Given the description of an element on the screen output the (x, y) to click on. 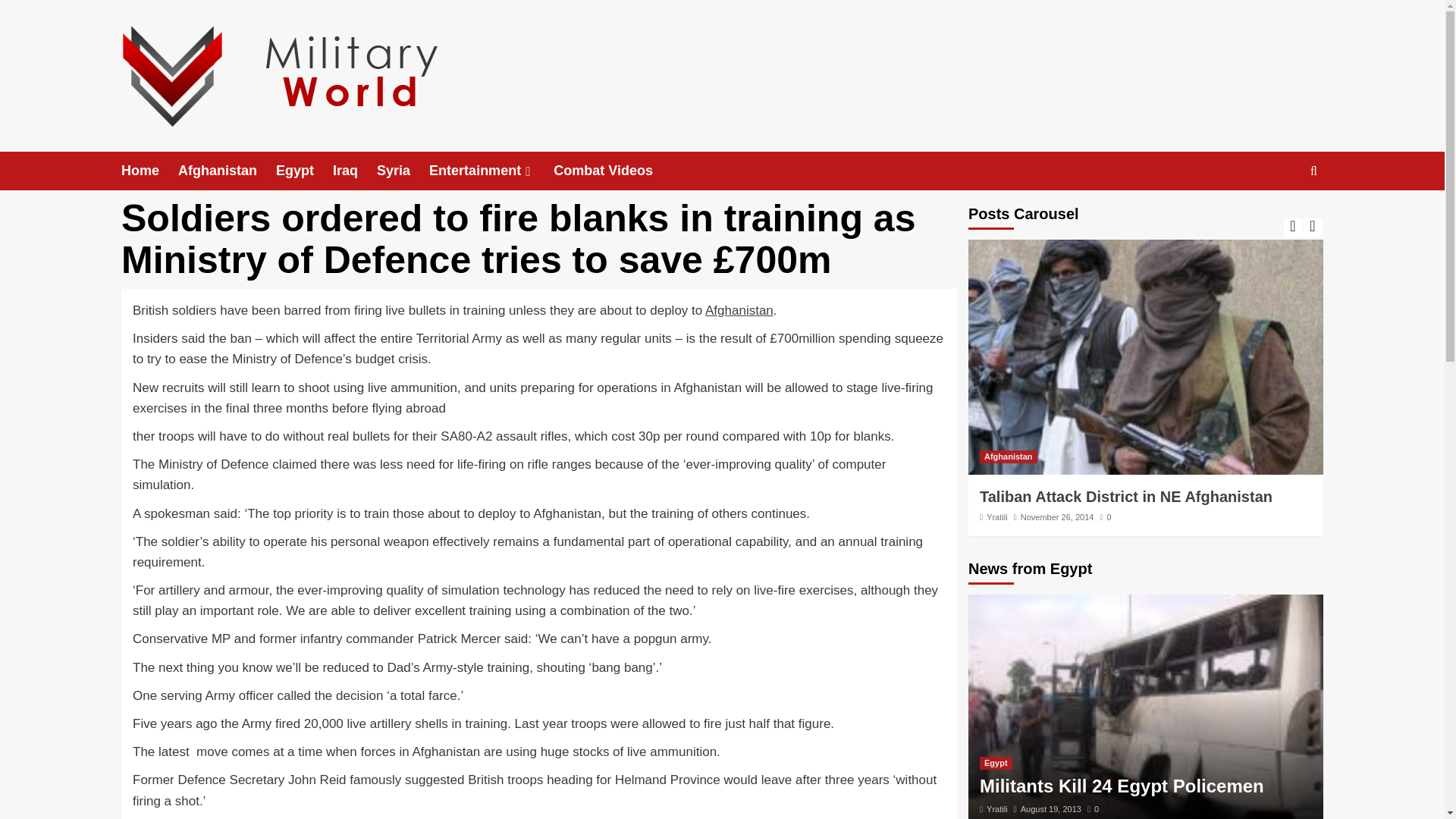
Yratili (997, 516)
Afghanistan (738, 310)
0 (1104, 516)
Iraq (355, 170)
Taliban Attack District in NE Afghanistan (1125, 496)
Search (1278, 216)
Egypt (304, 170)
Syria (403, 170)
Entertainment (491, 170)
November 26, 2014 (1057, 516)
